Given the description of an element on the screen output the (x, y) to click on. 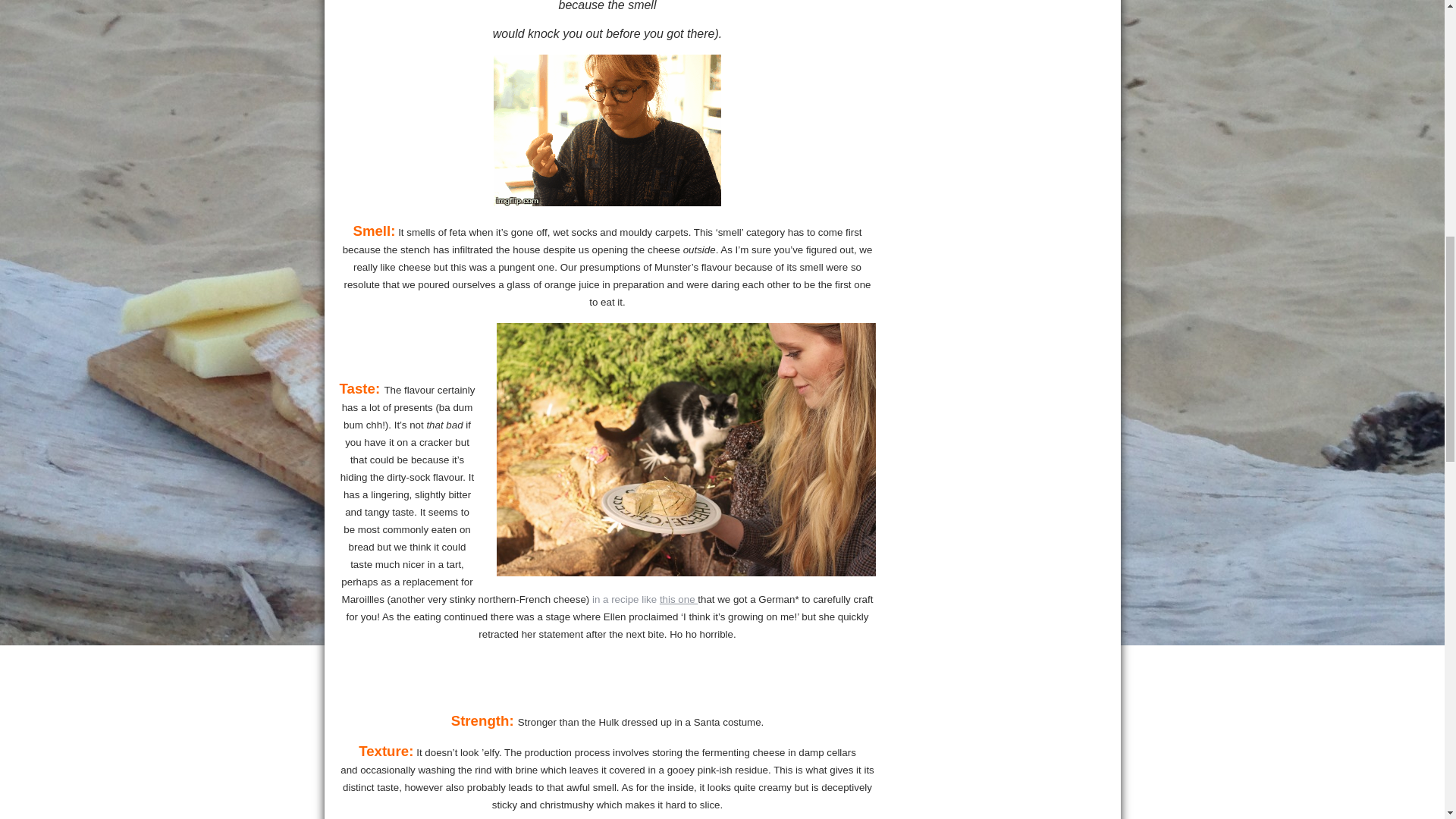
in a recipe like this one (644, 599)
